Given the description of an element on the screen output the (x, y) to click on. 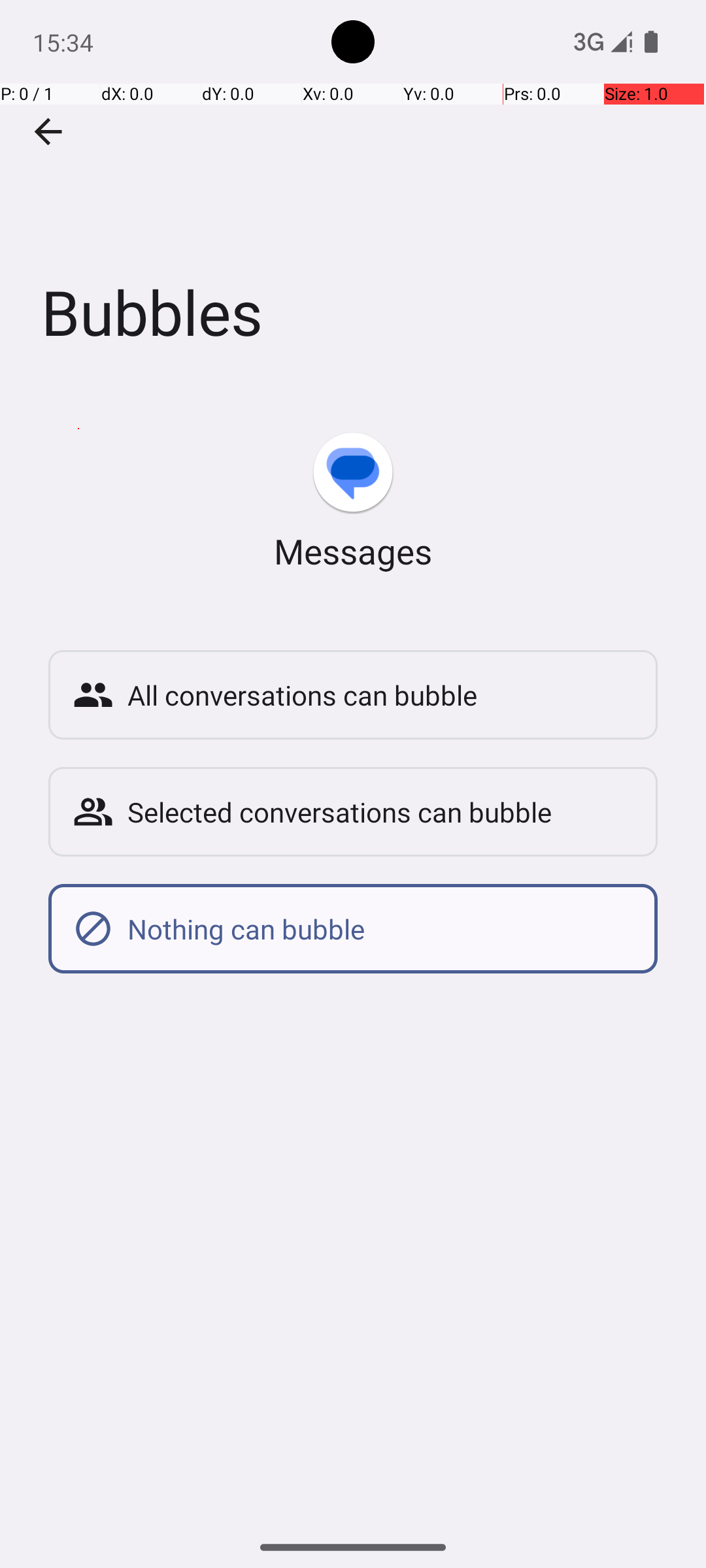
All conversations can bubble Element type: android.widget.TextView (380, 694)
Selected conversations can bubble Element type: android.widget.TextView (380, 811)
Nothing can bubble Element type: android.widget.TextView (380, 928)
